Given the description of an element on the screen output the (x, y) to click on. 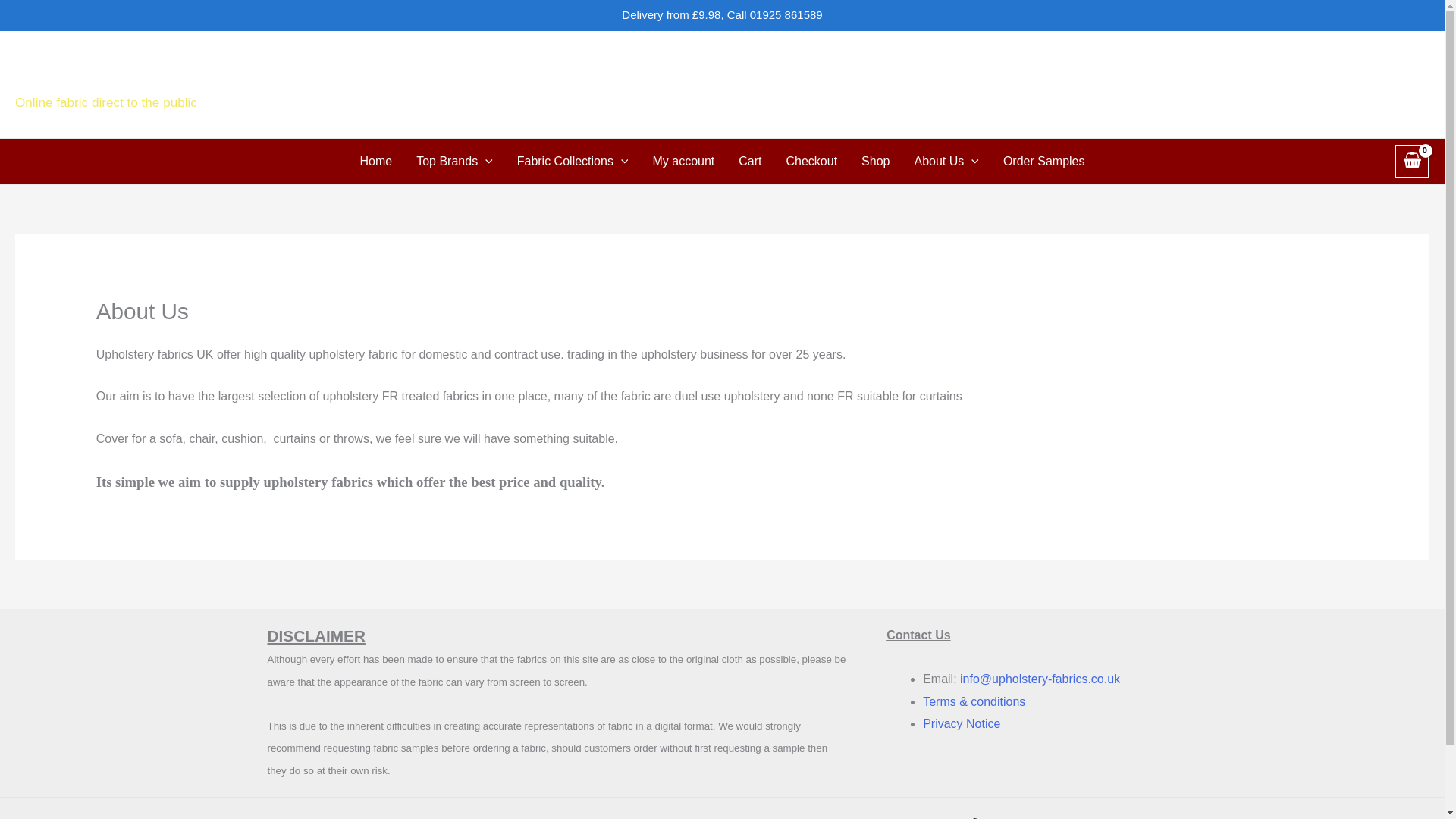
Top Brands (454, 161)
Upholstery Fabrics UK (166, 73)
Fabric Collections (572, 161)
Home (375, 161)
